Given the description of an element on the screen output the (x, y) to click on. 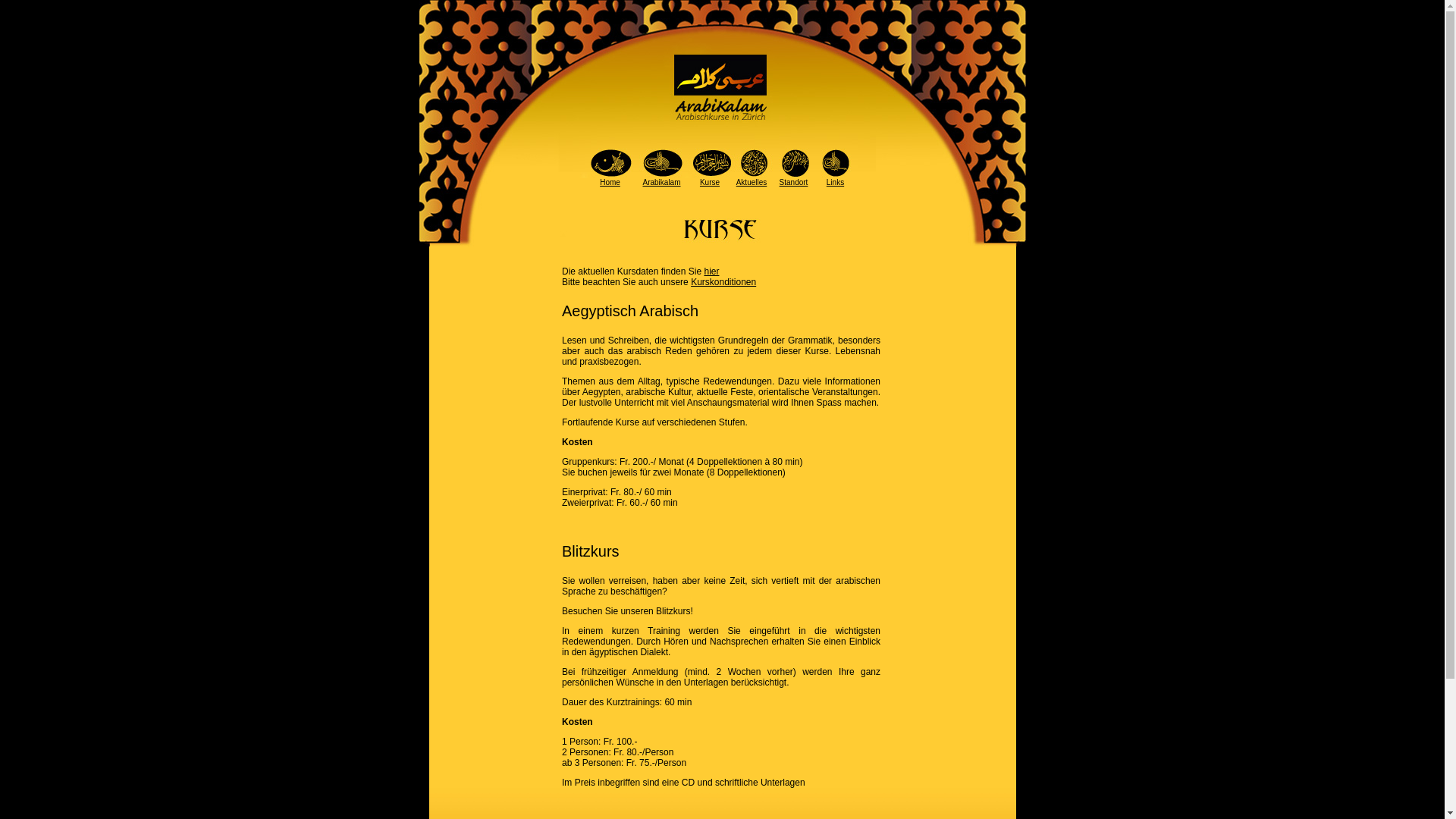
Arabikalam Element type: text (661, 182)
Kurse Element type: text (709, 182)
Kurskonditionen Element type: text (723, 281)
Home Element type: text (609, 182)
hier Element type: text (710, 271)
Aktuelles Element type: text (751, 182)
Standort Element type: text (793, 182)
Links Element type: text (835, 182)
